Given the description of an element on the screen output the (x, y) to click on. 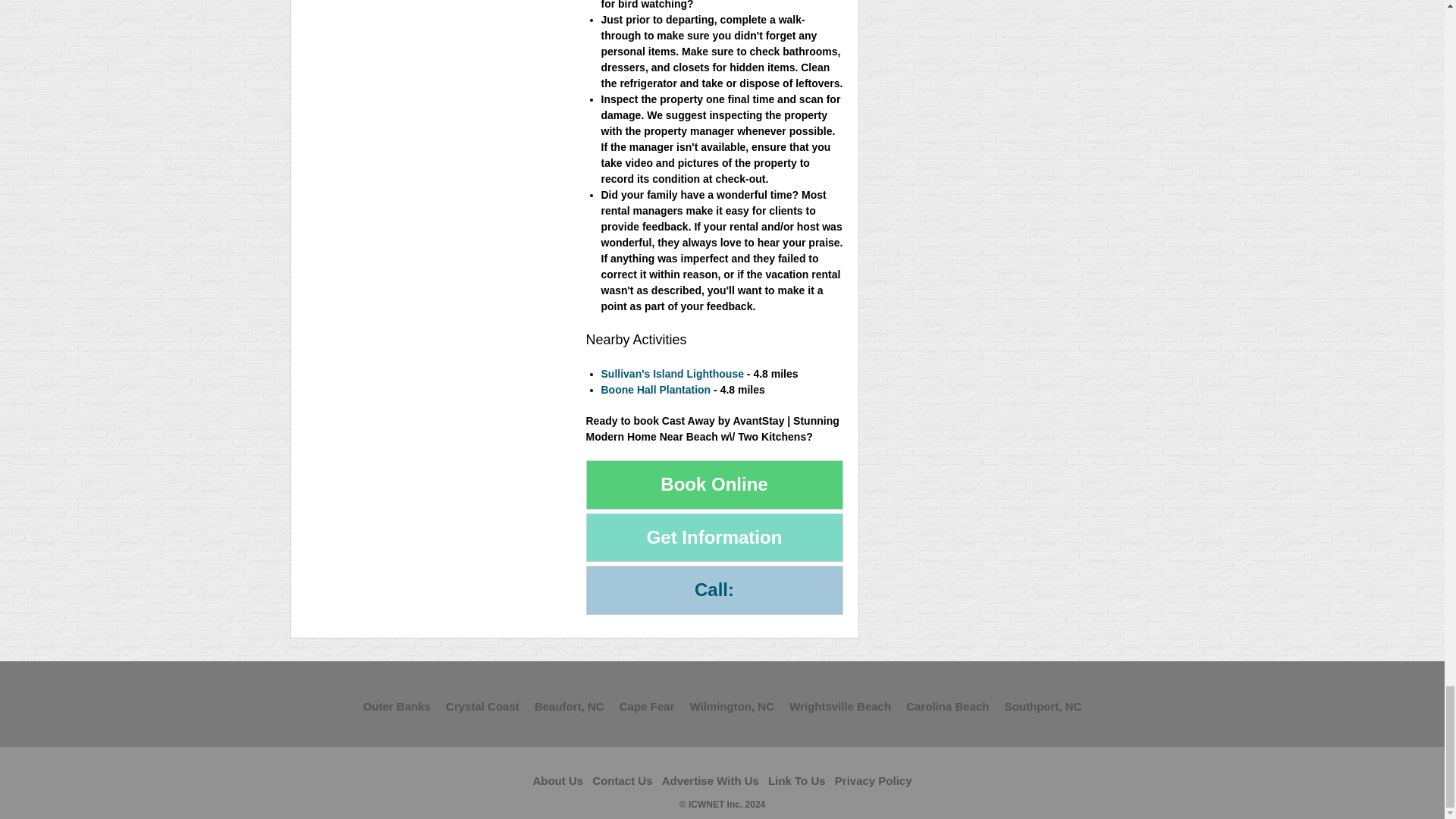
Call: (714, 590)
Book Online (714, 484)
Sullivan's Island Lighthouse (670, 373)
Boone Hall Plantation (654, 389)
Get Information (714, 537)
